Given the description of an element on the screen output the (x, y) to click on. 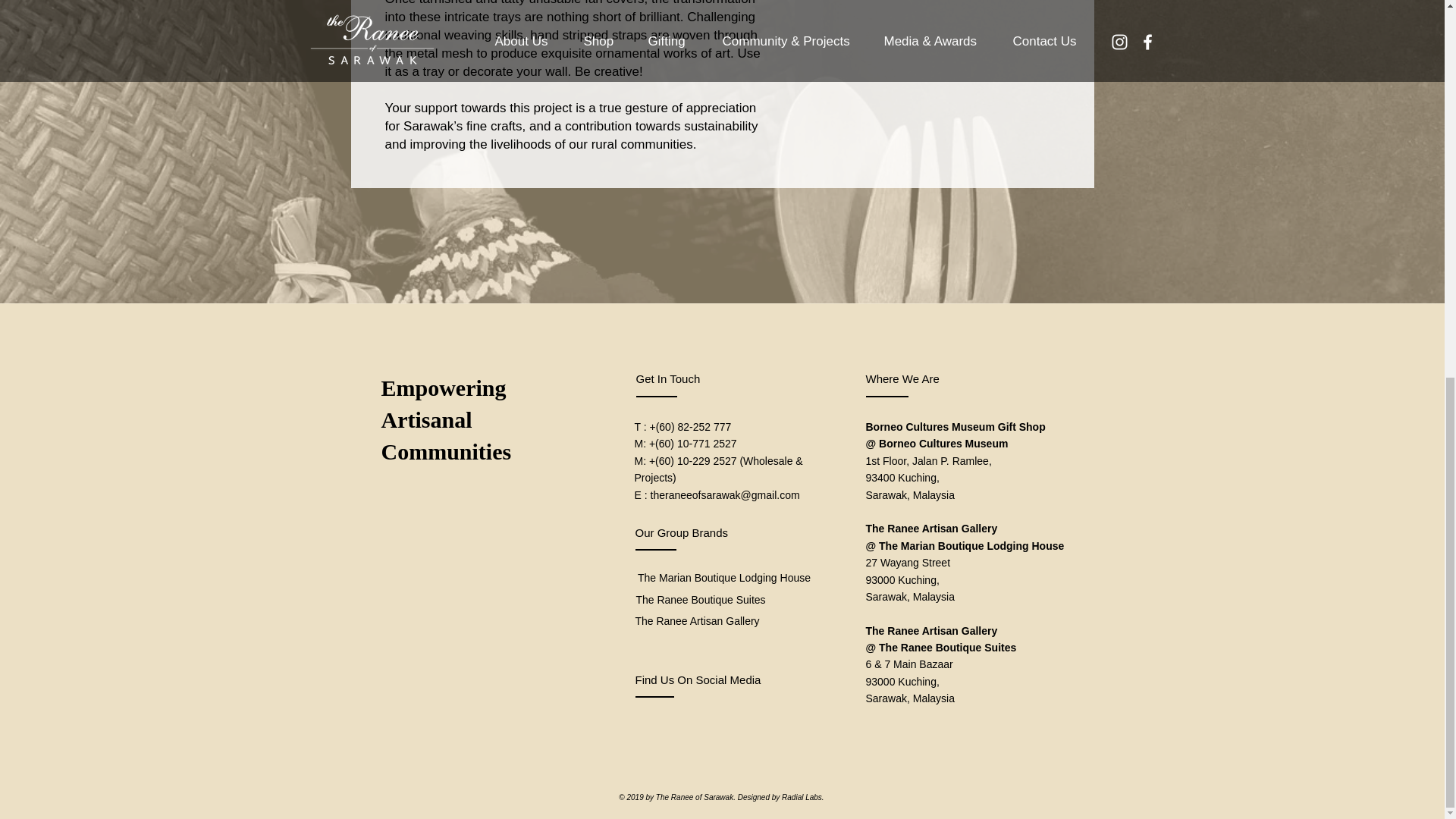
The Ranee Artisan Gallery (697, 621)
The Marian Boutique Lodging House (724, 578)
The Ranee Boutique Suites (700, 599)
